Given the description of an element on the screen output the (x, y) to click on. 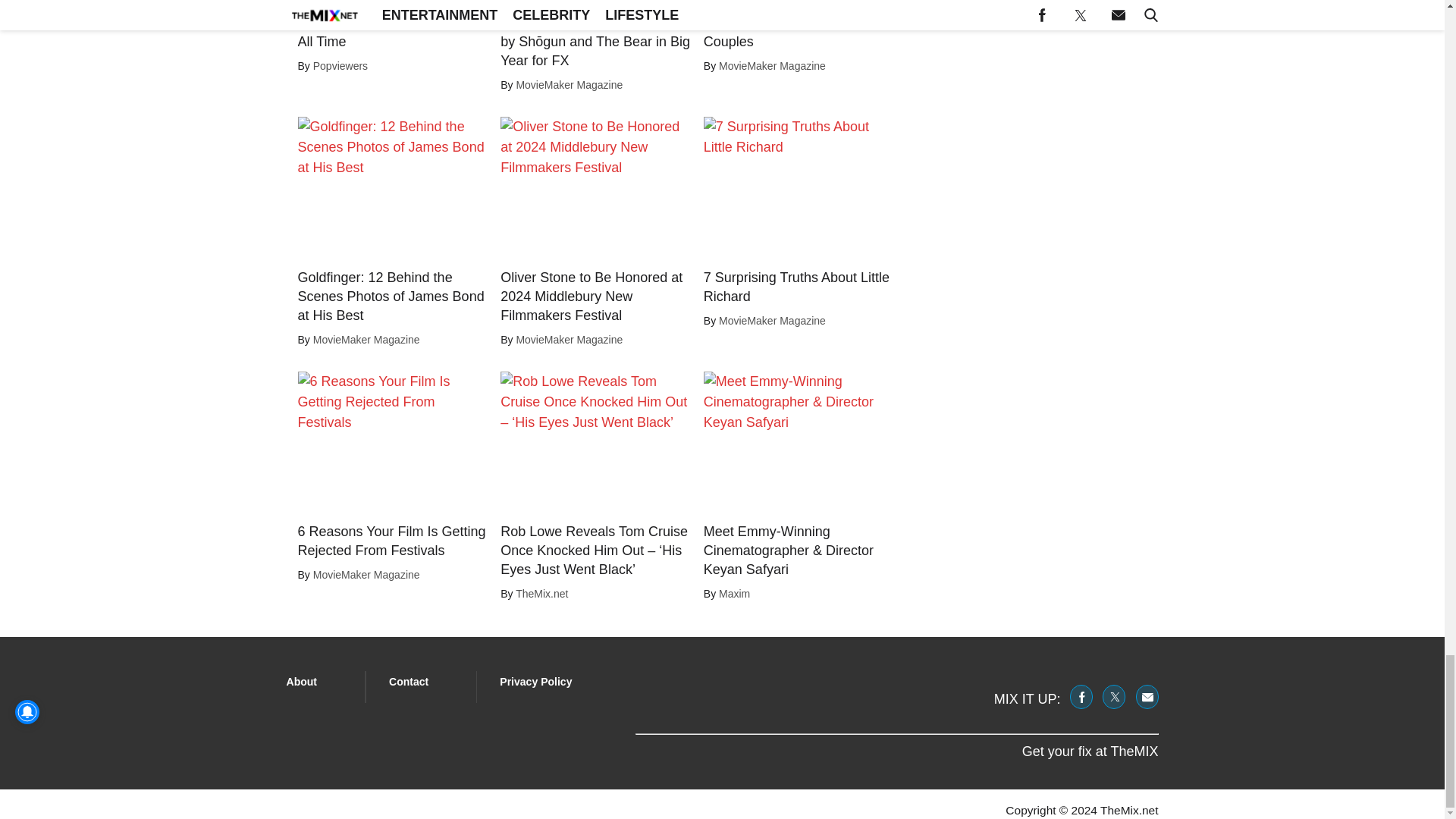
Popviewers (340, 65)
9 Greatest Emmy Moments Of All Time (393, 32)
